Given the description of an element on the screen output the (x, y) to click on. 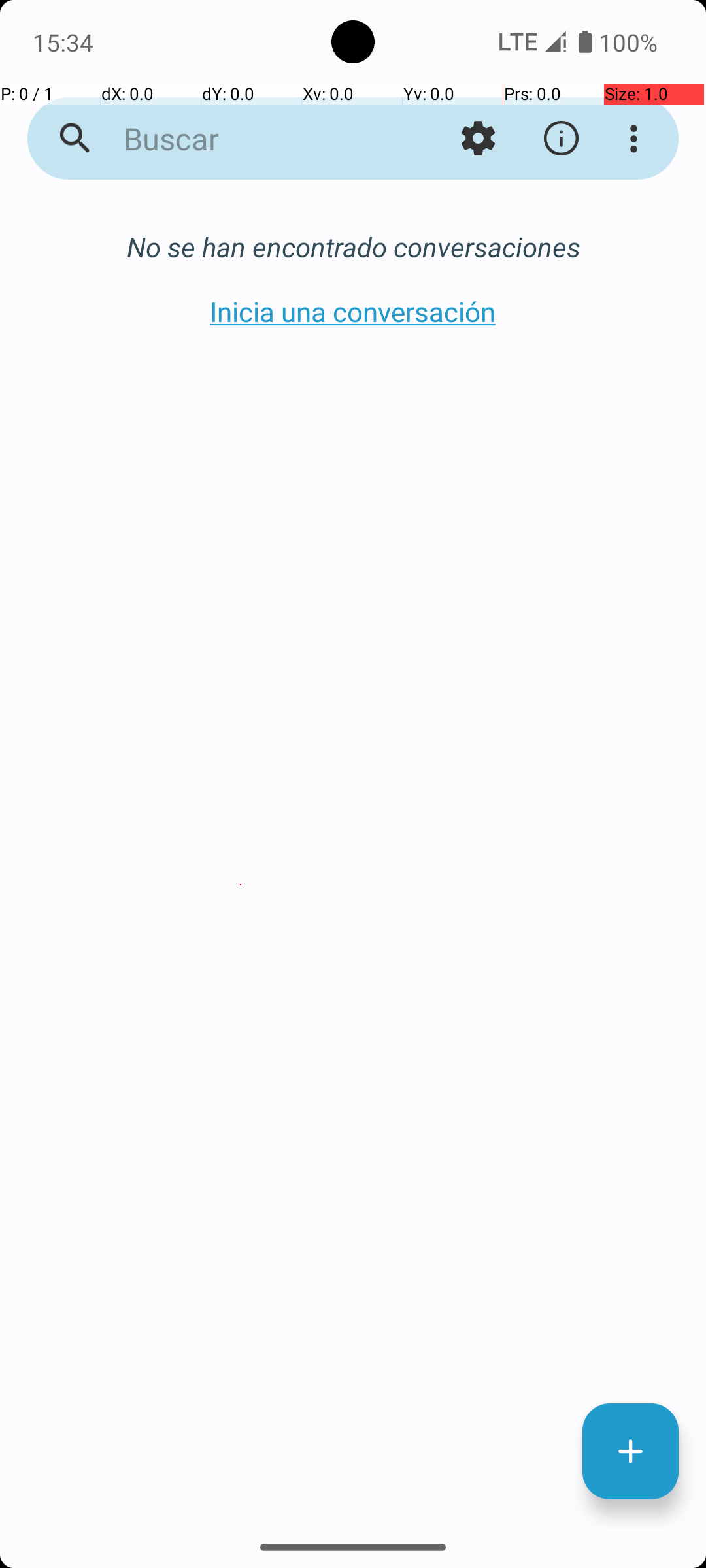
Acerca de Element type: android.widget.Button (560, 138)
No se han encontrado conversaciones Element type: android.widget.TextView (353, 246)
Inicia una conversación Element type: android.widget.TextView (352, 311)
